Given the description of an element on the screen output the (x, y) to click on. 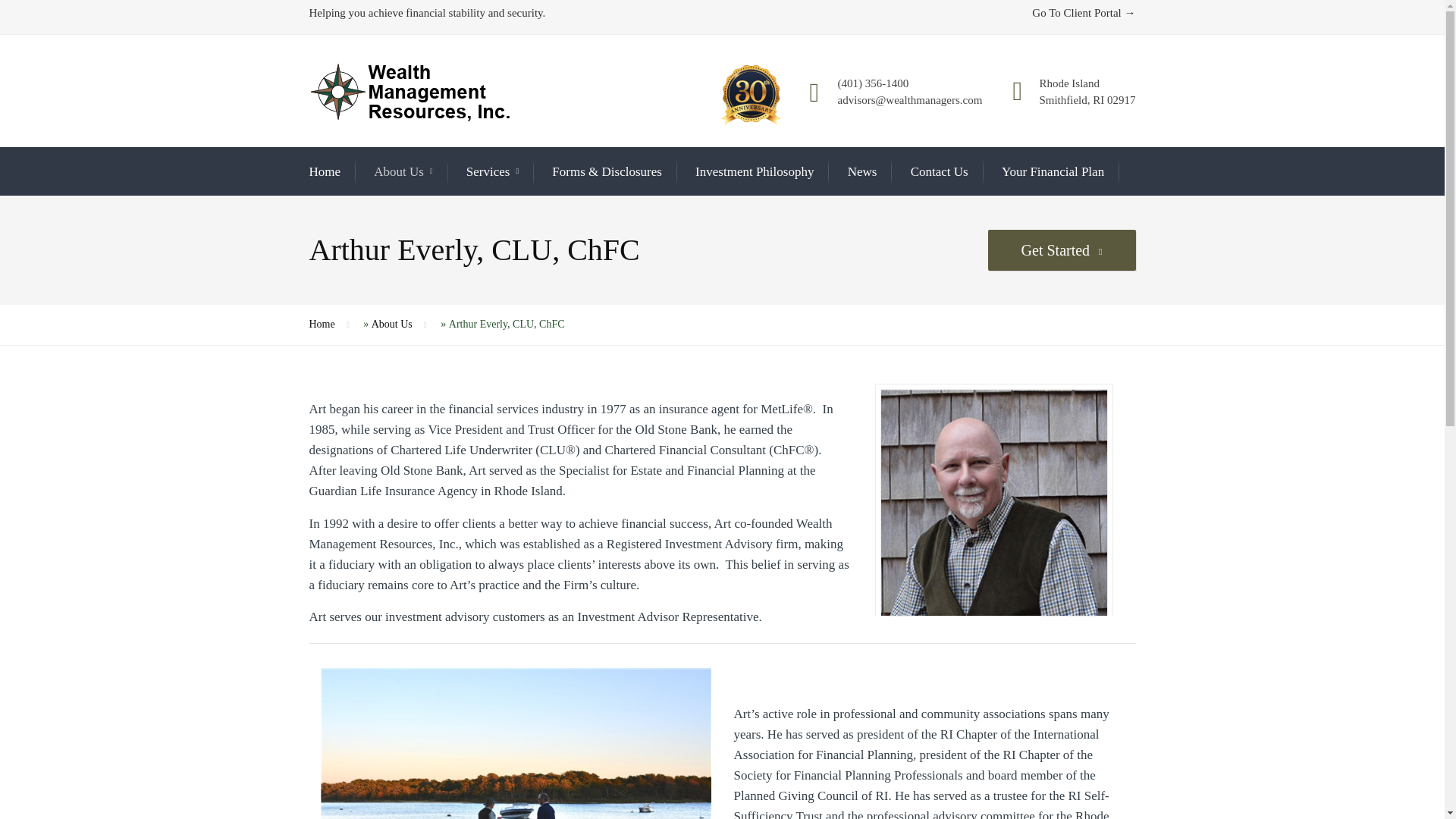
Contact Us (939, 171)
Investment Philosophy (754, 171)
Services (491, 172)
About Us (403, 172)
Home (324, 171)
Your Financial Plan (1052, 171)
News (862, 171)
